Given the description of an element on the screen output the (x, y) to click on. 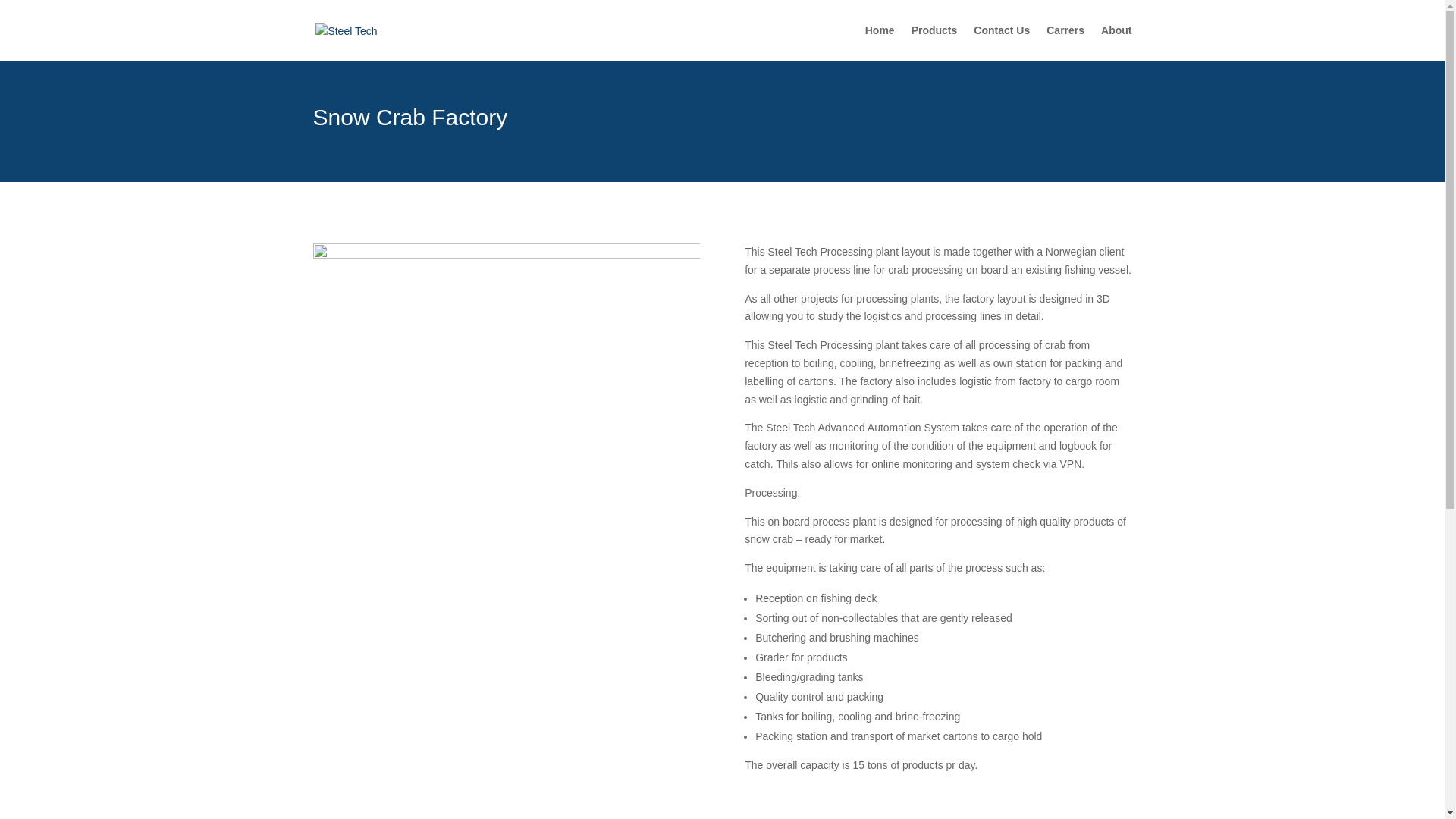
Contact Us (1001, 42)
Products (934, 42)
Carrers (1065, 42)
Krabbebfabrikk (505, 357)
